Given the description of an element on the screen output the (x, y) to click on. 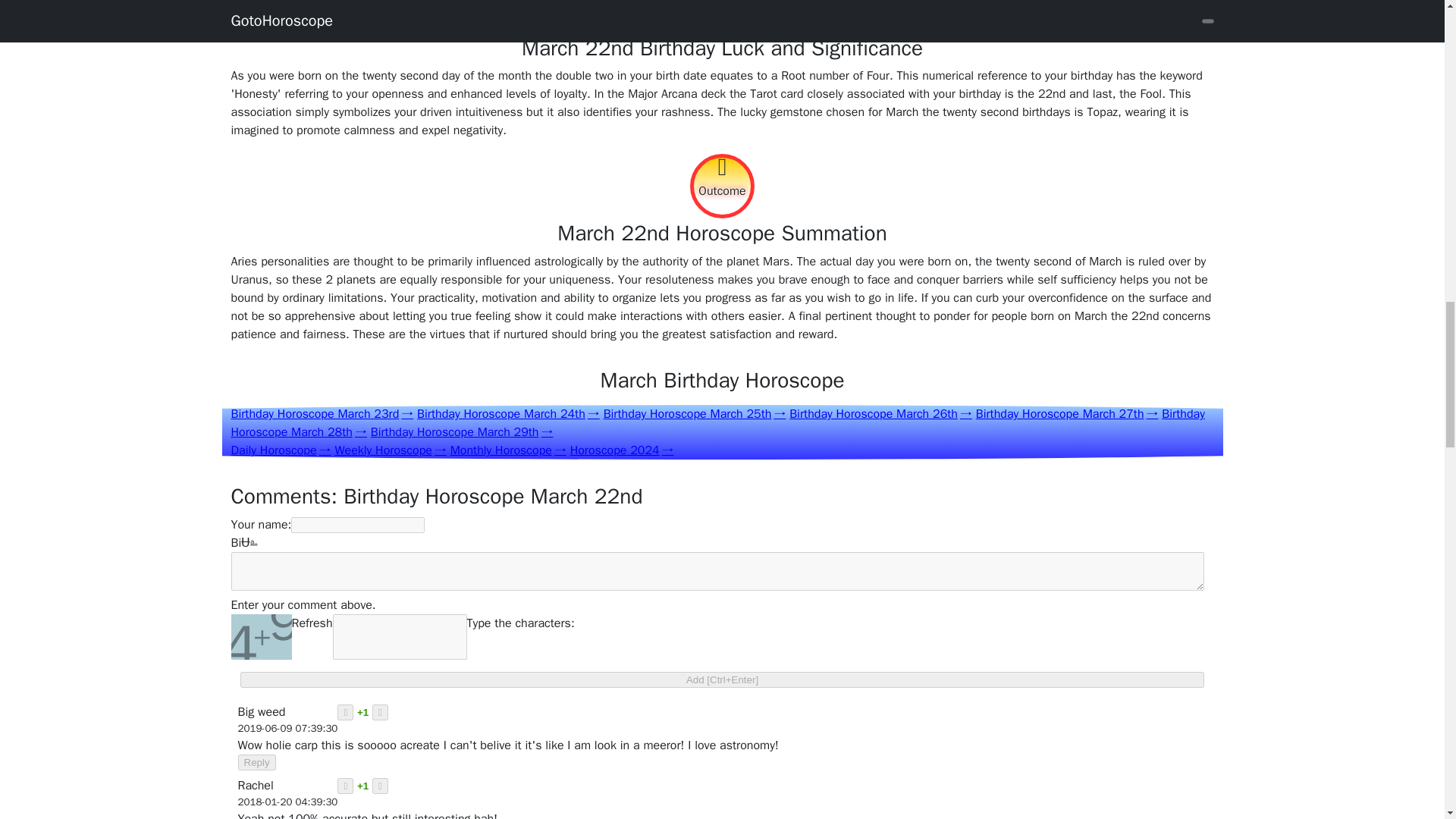
Monthly Horoscope (507, 450)
Birthday Horoscope March 29th (462, 432)
Birthday Horoscope March 28th (717, 422)
Reply (257, 762)
Daily Horoscope for Today and Tomorrow (280, 450)
Birthday Horoscope March 25th (695, 413)
Weekly Horoscope (389, 450)
Monthly Horoscope (507, 450)
Birthday Horoscope March 27th (1066, 413)
Refresh (311, 637)
Daily Horoscope (280, 450)
Birthday Horoscope March 24th (507, 413)
Horoscope 2024 (622, 450)
Birthday Horoscope March 23rd (321, 413)
Birthday Horoscope March 26th (880, 413)
